Given the description of an element on the screen output the (x, y) to click on. 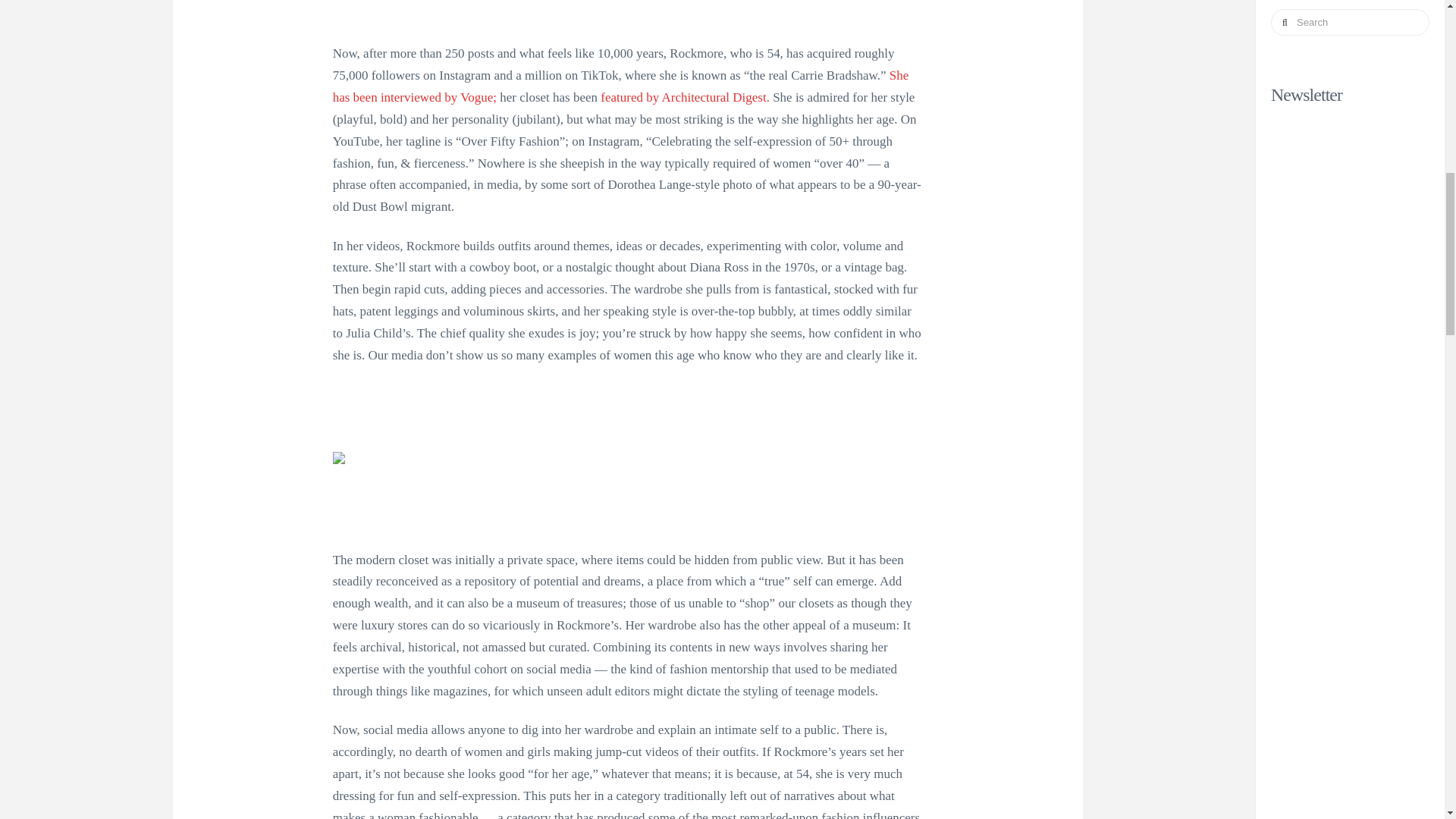
YouTube Video (628, 11)
